Given the description of an element on the screen output the (x, y) to click on. 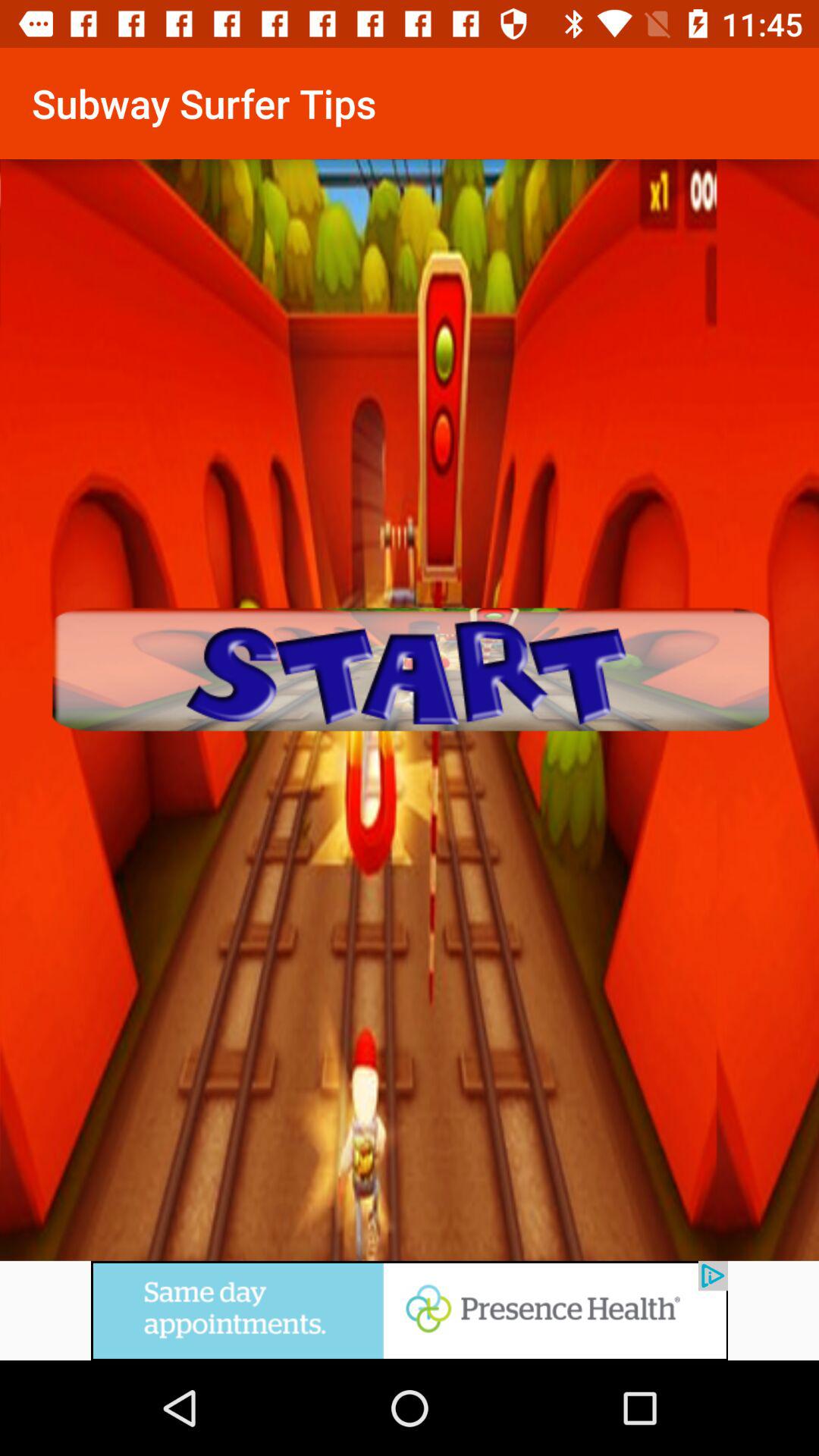
advertisement (409, 1334)
